Given the description of an element on the screen output the (x, y) to click on. 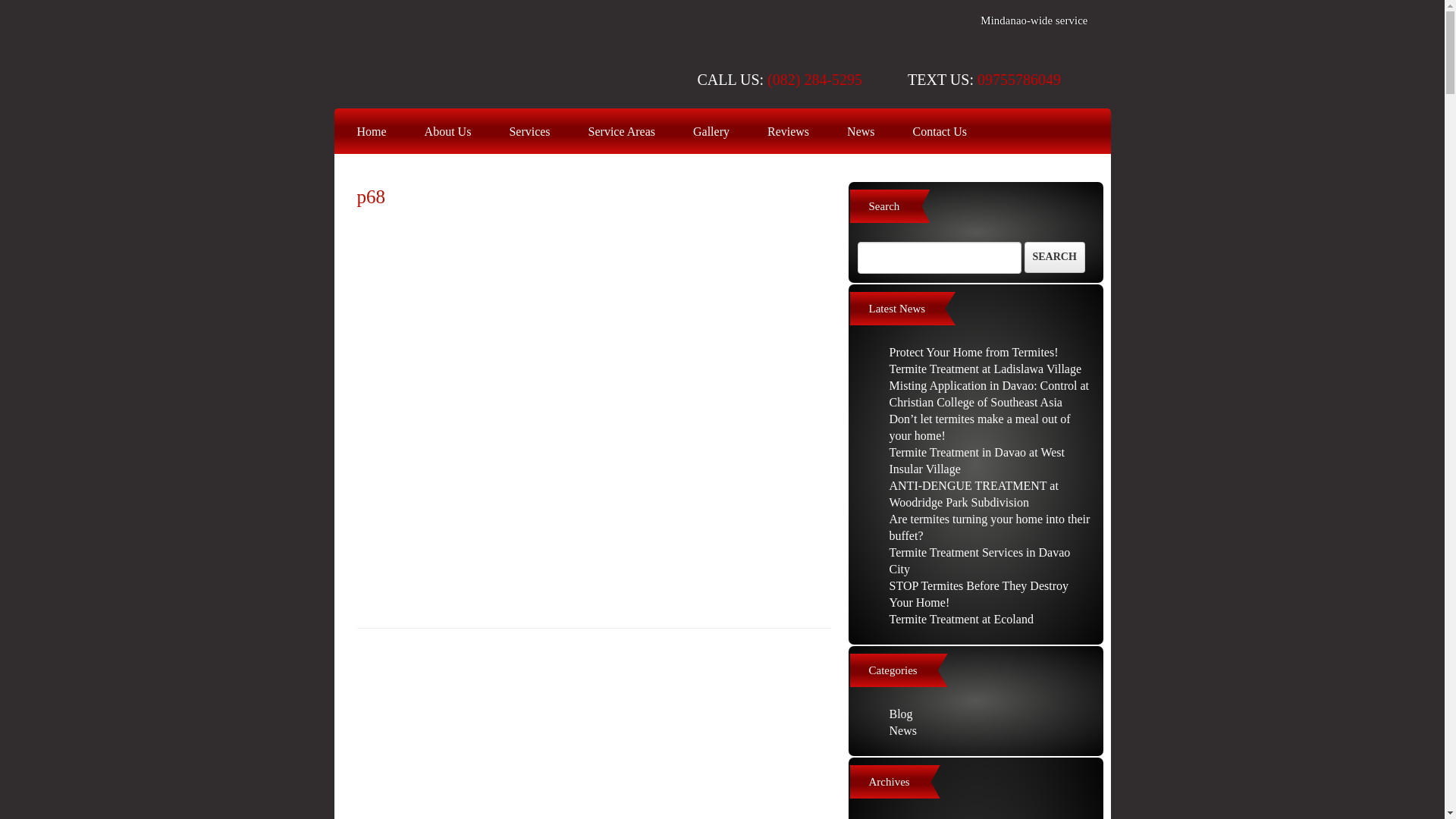
Contact Us (940, 131)
News (860, 131)
Pest Control Logo (439, 54)
TEXT US: 09755786049 (984, 79)
Termite Treatment at Ladislawa Village (984, 368)
Search (1053, 256)
Blog (900, 713)
News (901, 730)
About Us (447, 131)
Mindanao-wide service (1033, 20)
Protect Your Home from Termites! (973, 351)
Home (370, 131)
Termite Treatment at Ecoland (960, 618)
